Given the description of an element on the screen output the (x, y) to click on. 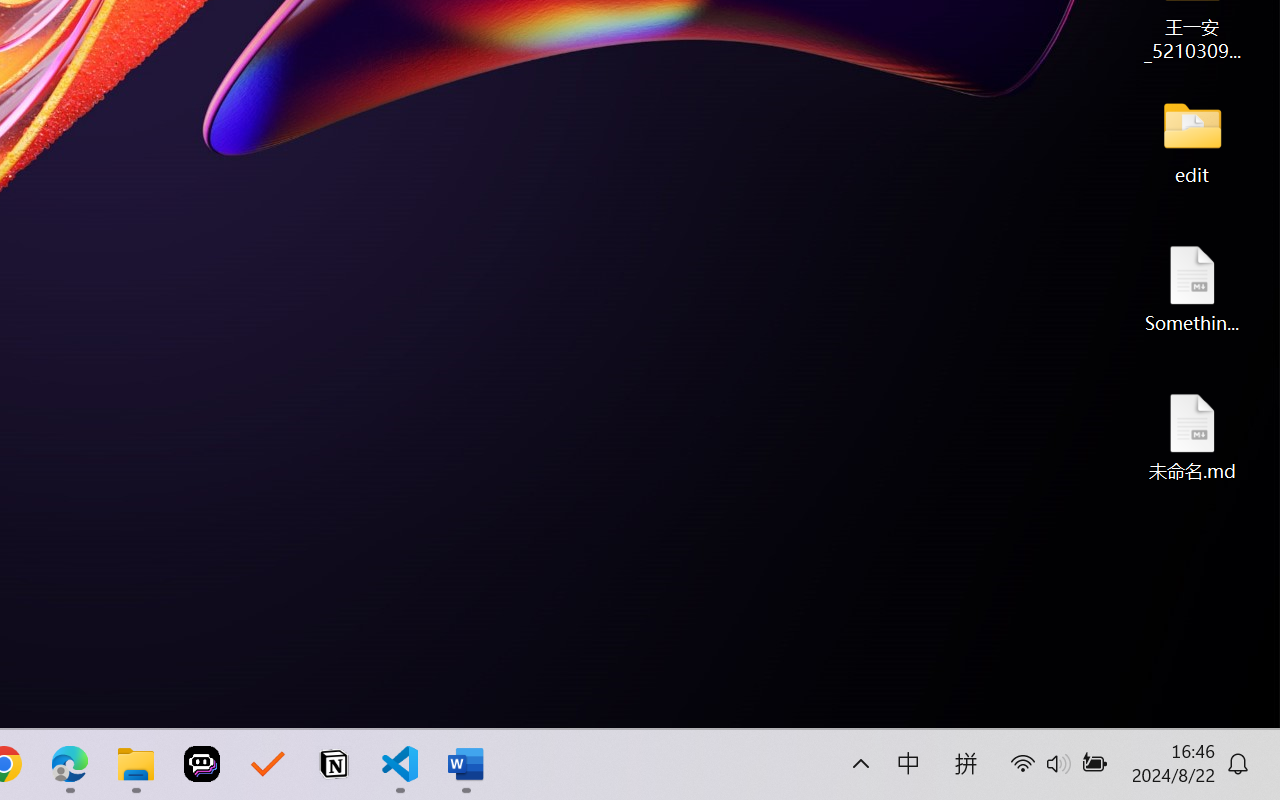
edit (1192, 140)
Something.md (1192, 288)
